Given the description of an element on the screen output the (x, y) to click on. 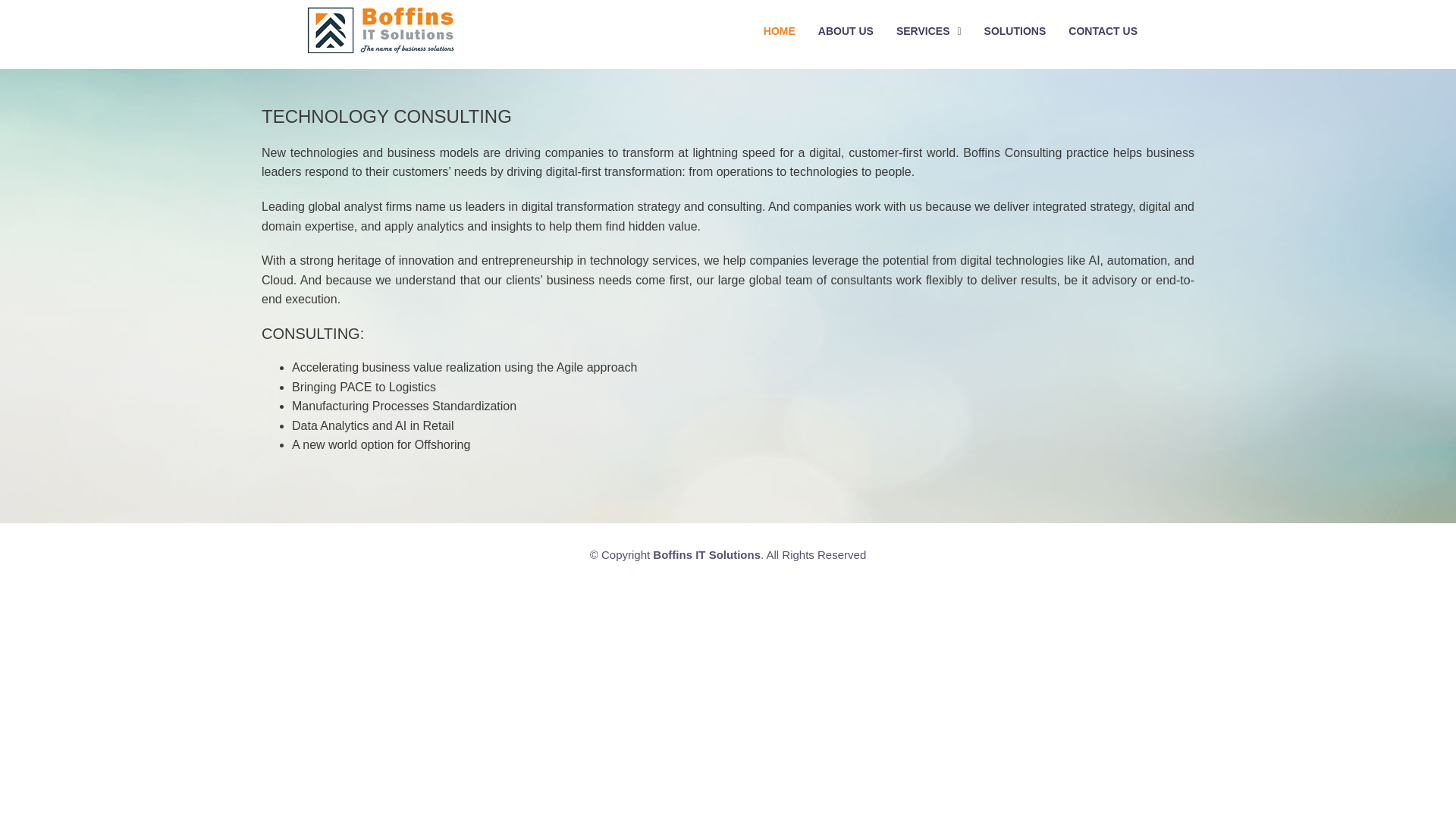
ABOUT US (845, 30)
SERVICES (928, 31)
SOLUTIONS (1015, 30)
HOME (779, 30)
CONTACT US (1102, 30)
